Given the description of an element on the screen output the (x, y) to click on. 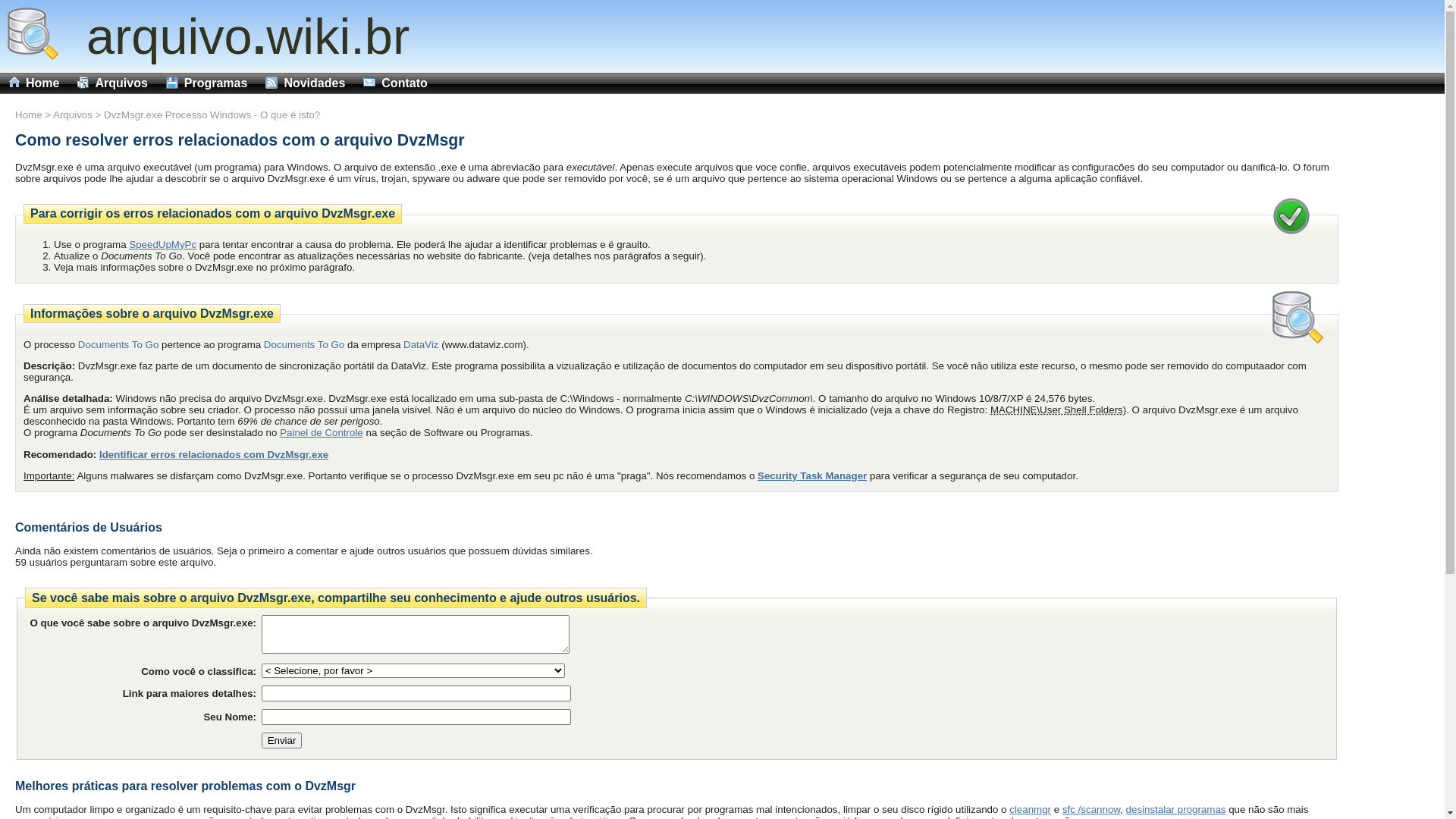
Home Element type: text (28, 114)
Arquivos Element type: text (112, 83)
Programas Element type: text (206, 83)
Identificar erros relacionados com DvzMsgr.exe Element type: text (213, 454)
SpeedUpMyPc Element type: text (162, 244)
Security Task Manager Element type: text (811, 475)
cleanmgr Element type: text (1030, 809)
desinstalar programas Element type: text (1176, 809)
sfc /scannow Element type: text (1091, 809)
Painel de Controle Element type: text (321, 432)
DataViz Element type: text (420, 344)
Novidades Element type: text (305, 83)
Arquivos Element type: text (72, 114)
Contato Element type: text (395, 83)
Enviar Element type: text (281, 740)
  arquivo.wiki.br Element type: text (233, 36)
Documents To Go Element type: text (303, 344)
Home Element type: text (34, 83)
Documents To Go Element type: text (118, 344)
Advertisement Element type: hover (1398, 412)
